Given the description of an element on the screen output the (x, y) to click on. 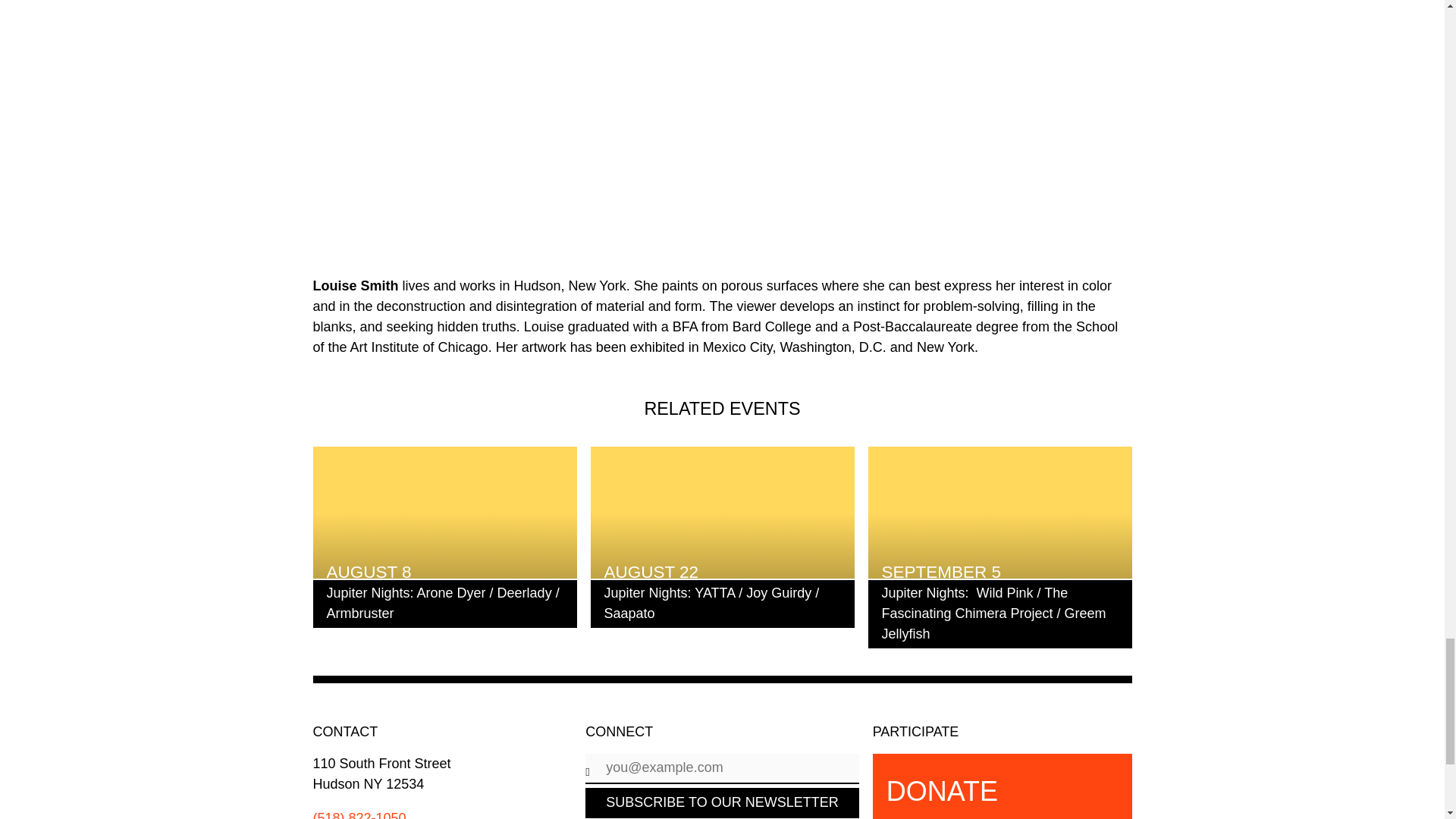
AUGUST 22 (721, 512)
AUGUST 8 (444, 512)
Subscribe to our Newsletter (722, 802)
SEPTEMBER 5 (999, 512)
